Given the description of an element on the screen output the (x, y) to click on. 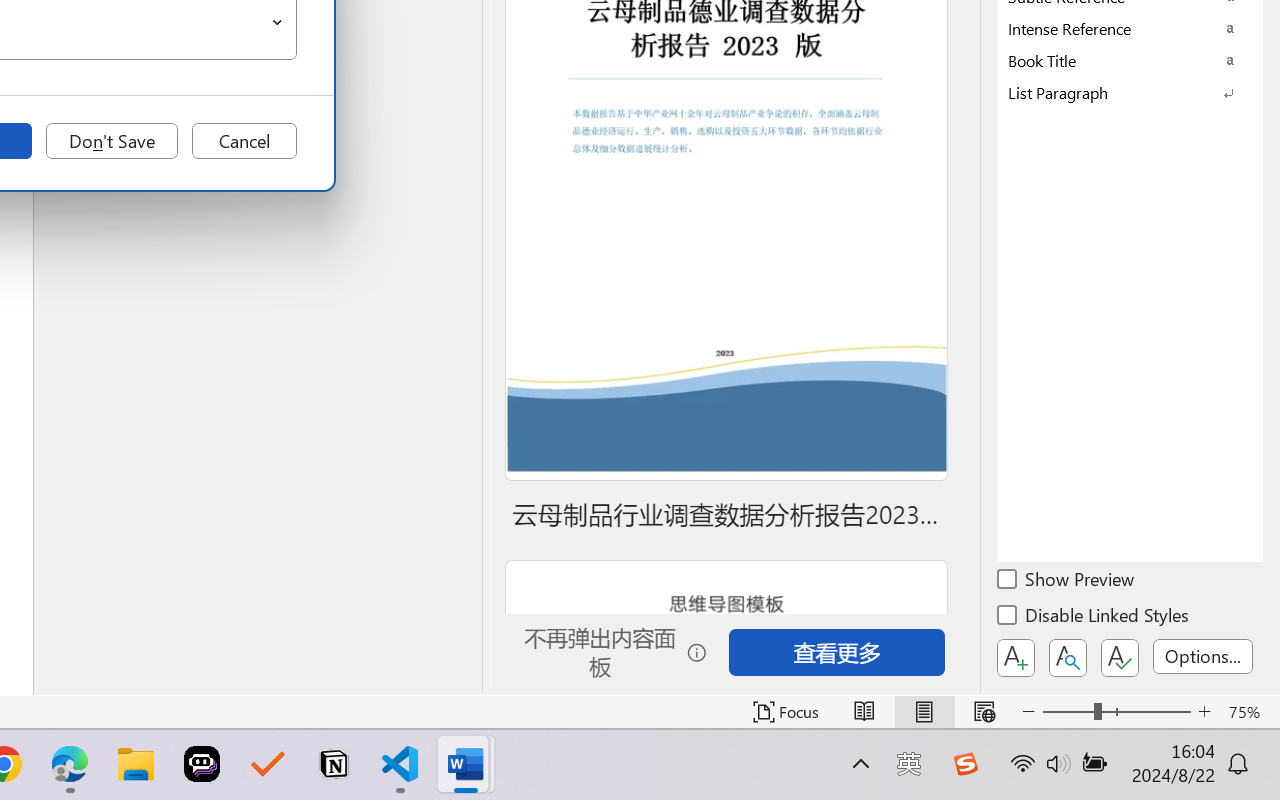
Cancel (244, 141)
Class: NetUIButton (1119, 657)
Options... (1203, 656)
Disable Linked Styles (1094, 618)
Poe (201, 764)
Zoom (1116, 712)
Focus  (786, 712)
Show Preview (1067, 582)
